Given the description of an element on the screen output the (x, y) to click on. 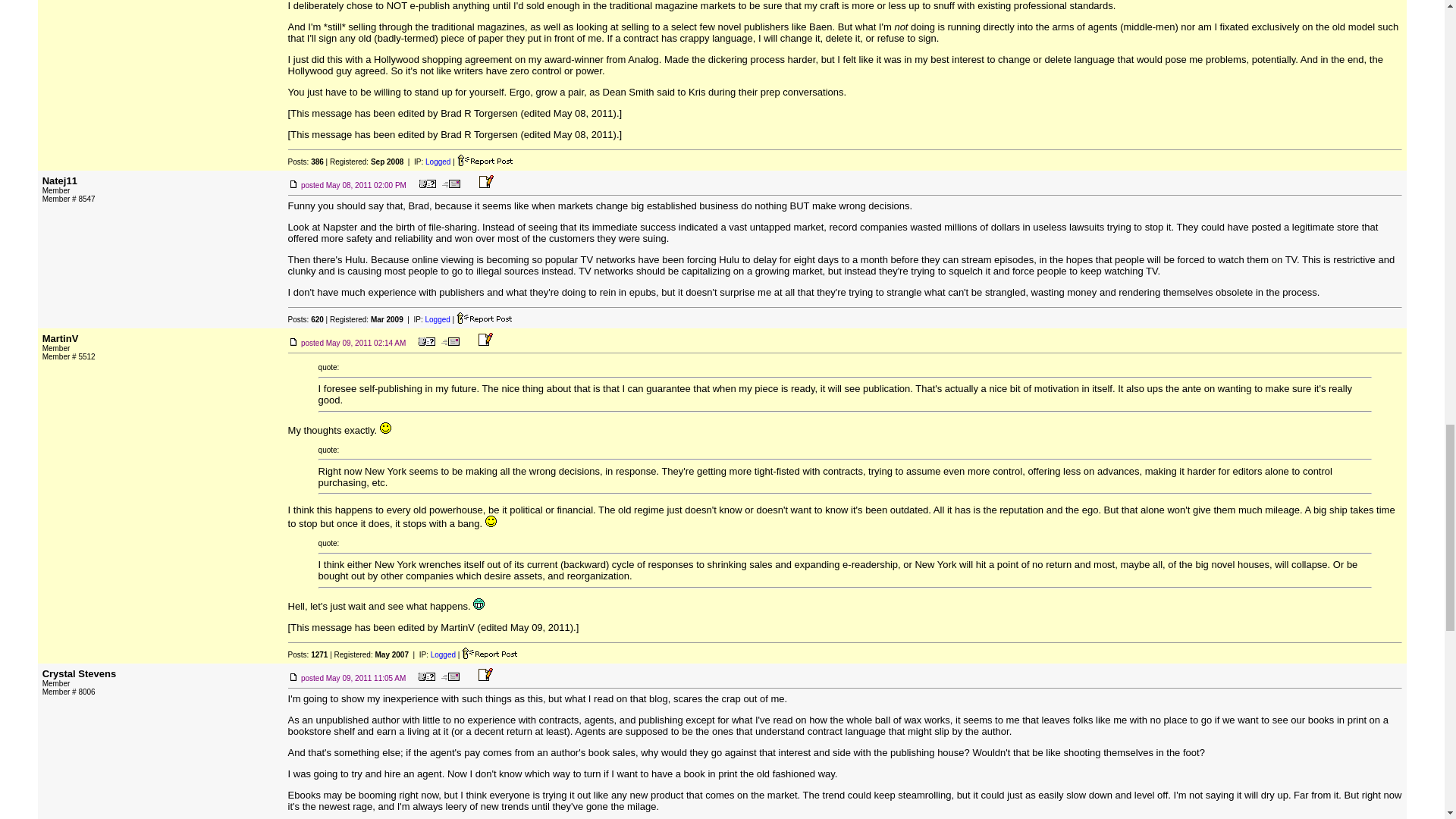
Report this post to a Moderator (484, 317)
Report this post to a Moderator (489, 653)
Report this post to a Moderator (485, 160)
